Given the description of an element on the screen output the (x, y) to click on. 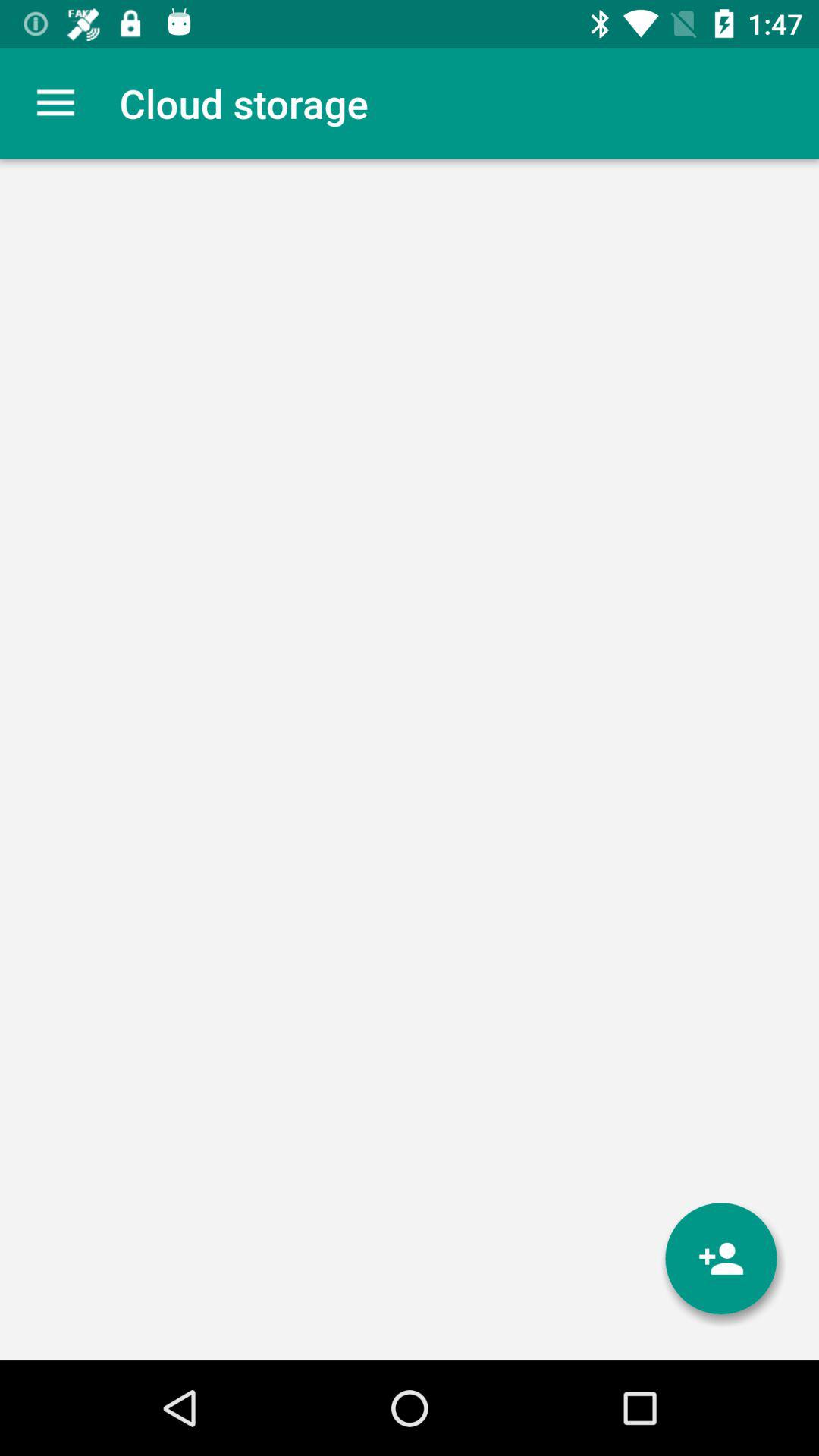
turn off item at the bottom right corner (721, 1258)
